Given the description of an element on the screen output the (x, y) to click on. 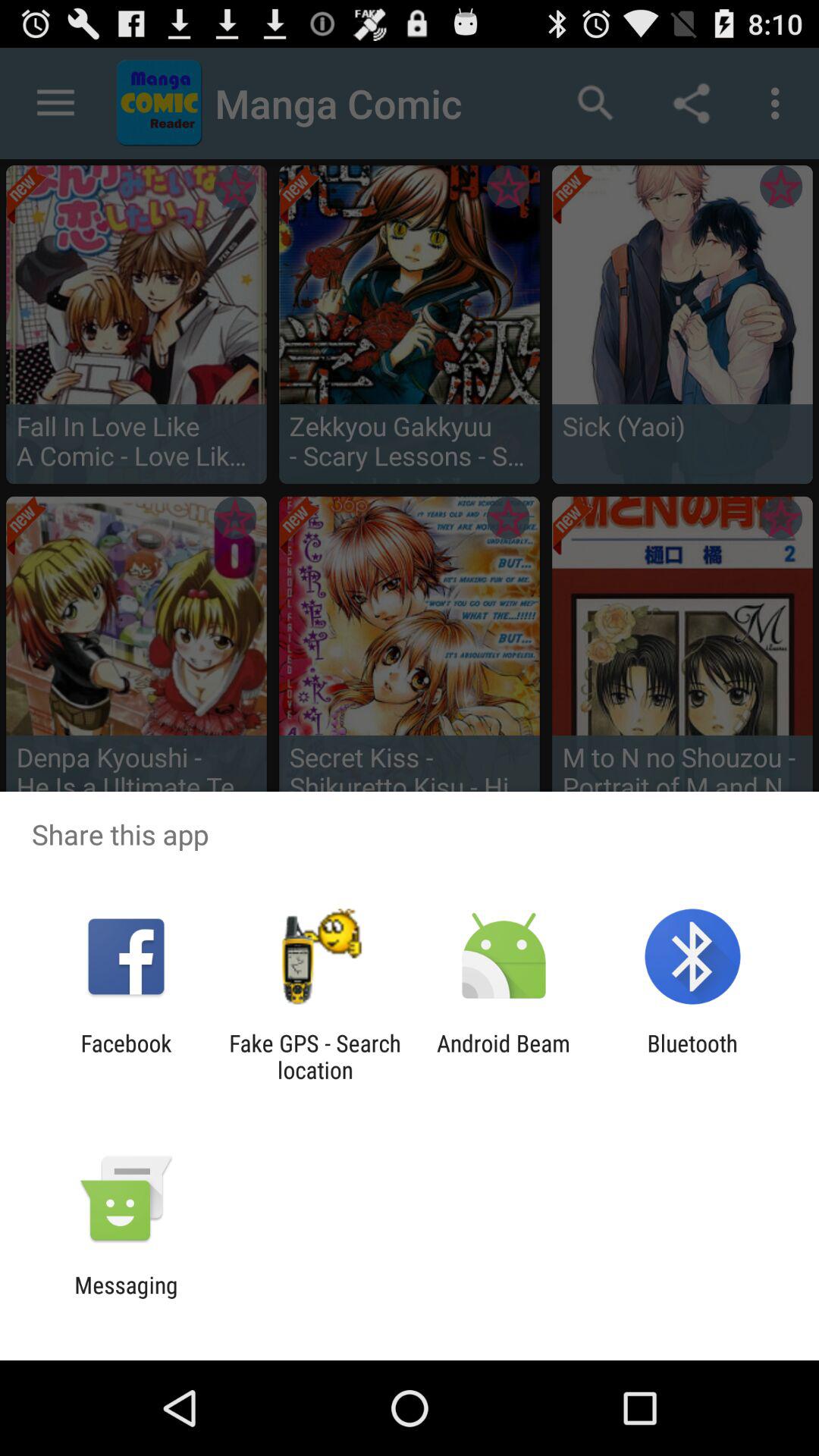
launch the icon at the bottom right corner (692, 1056)
